Given the description of an element on the screen output the (x, y) to click on. 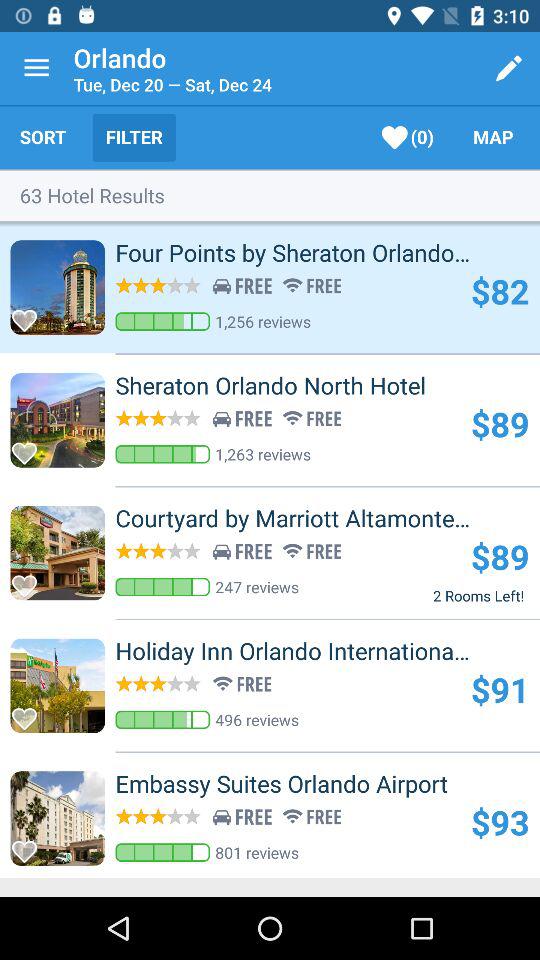
add hotel to favorites (30, 447)
